Given the description of an element on the screen output the (x, y) to click on. 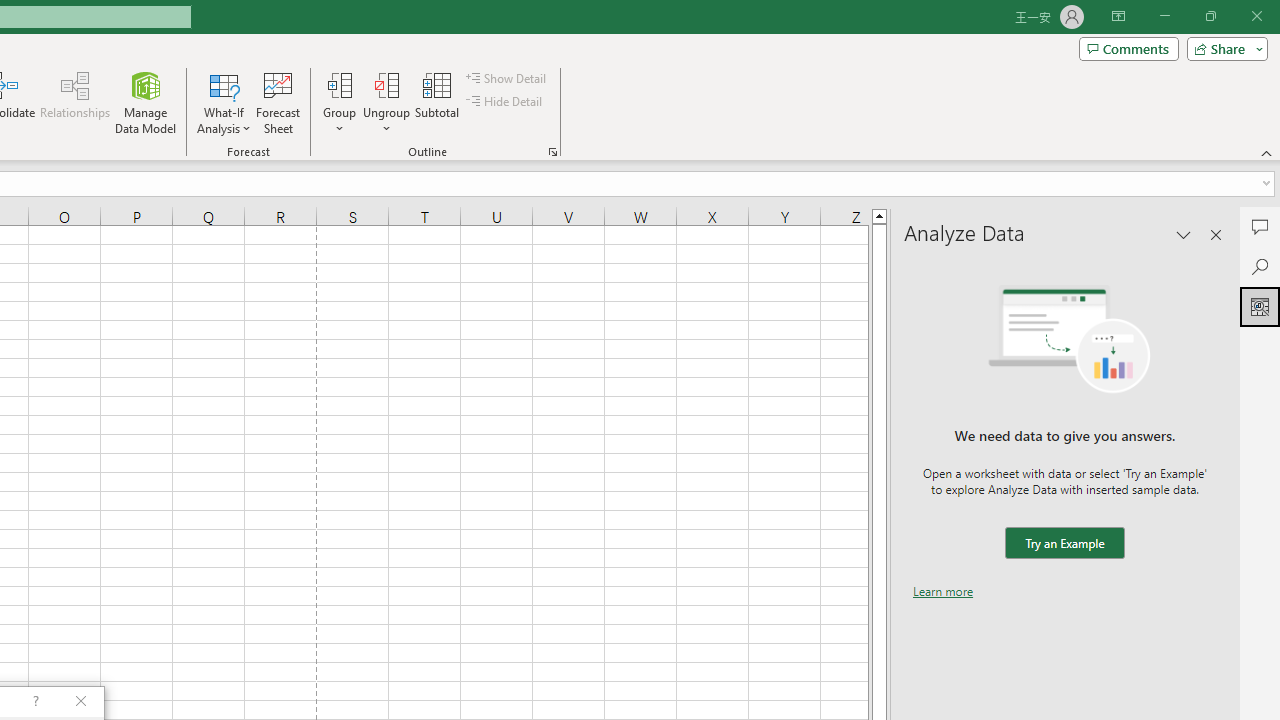
Group and Outline Settings (552, 151)
Hide Detail (505, 101)
